Given the description of an element on the screen output the (x, y) to click on. 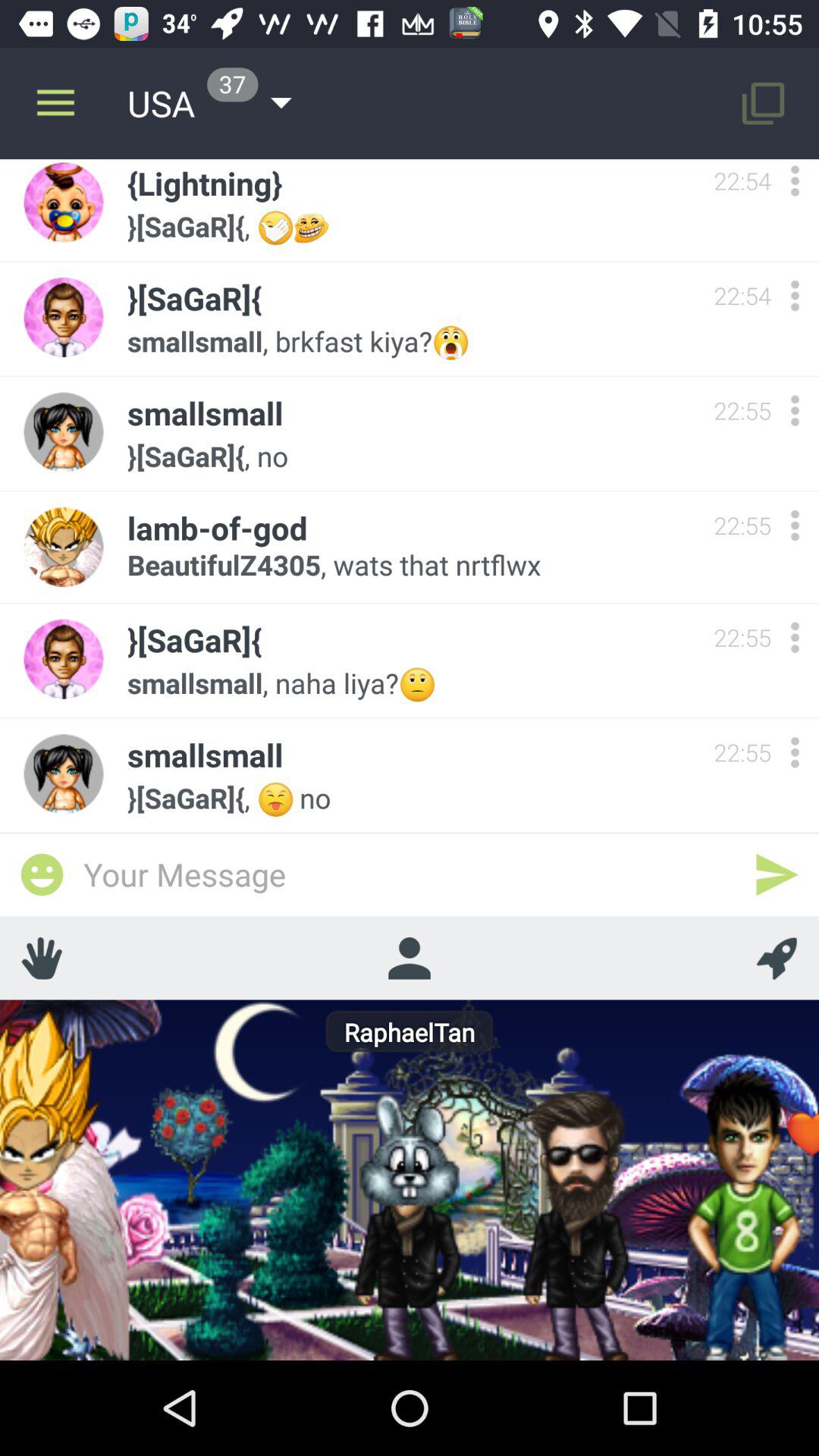
menu option (795, 525)
